Given the description of an element on the screen output the (x, y) to click on. 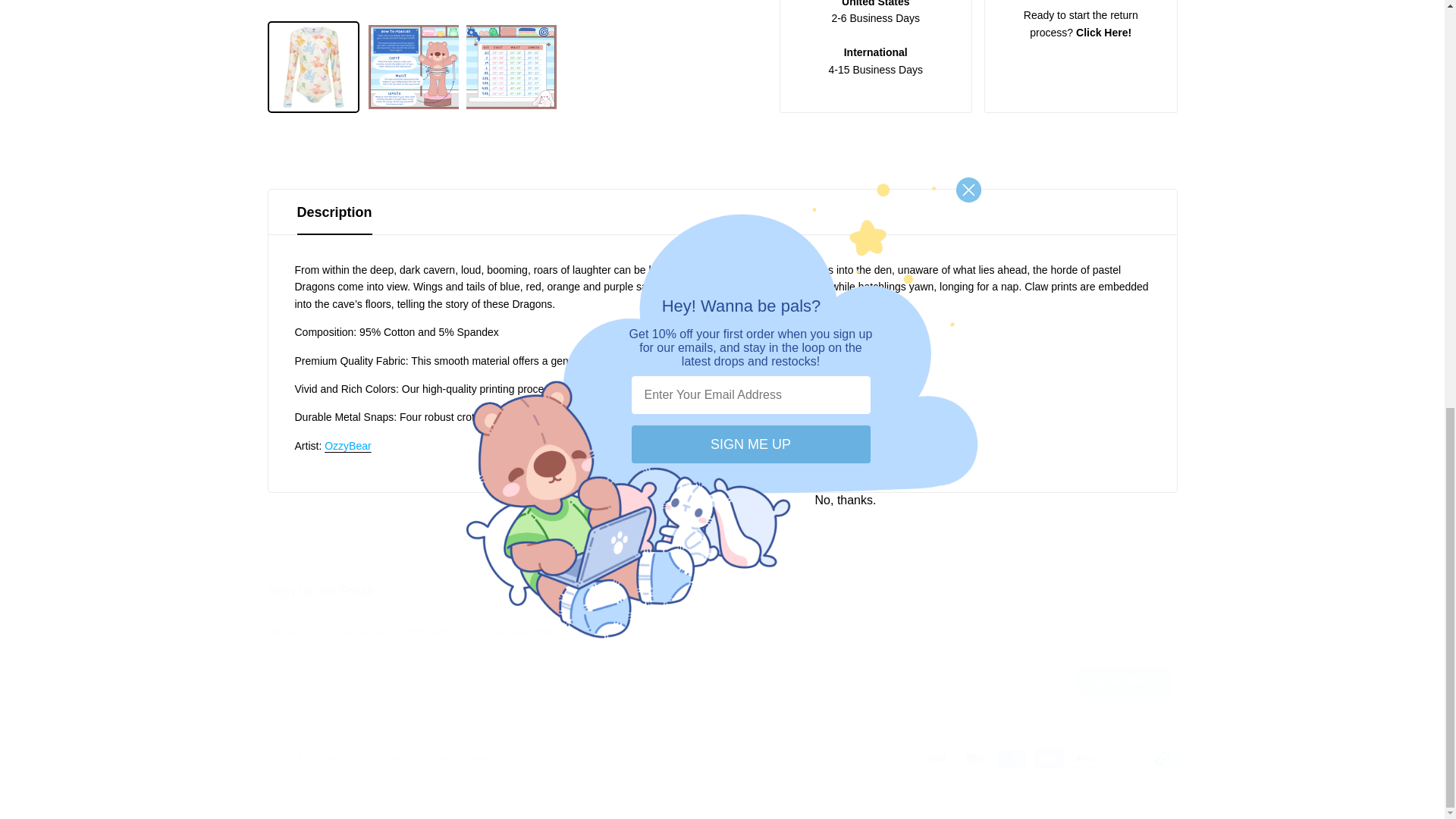
Description (721, 212)
Returns (1103, 32)
